Given the description of an element on the screen output the (x, y) to click on. 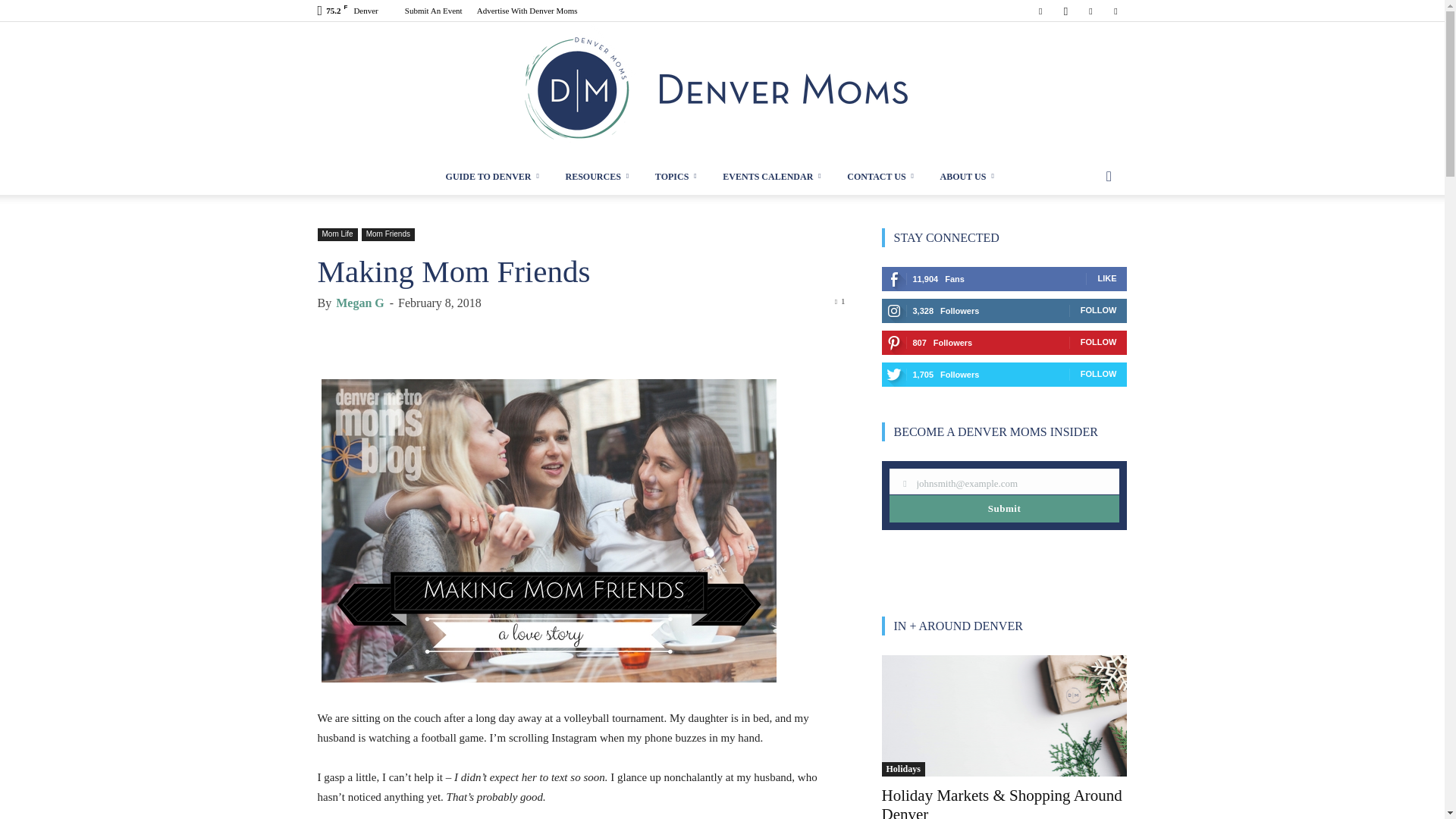
Submit An Event (433, 10)
Advertise With Denver Moms (527, 10)
Pinterest (1090, 10)
Twitter (1114, 10)
Facebook (1040, 10)
Denver Moms (721, 90)
Instagram (1065, 10)
